Given the description of an element on the screen output the (x, y) to click on. 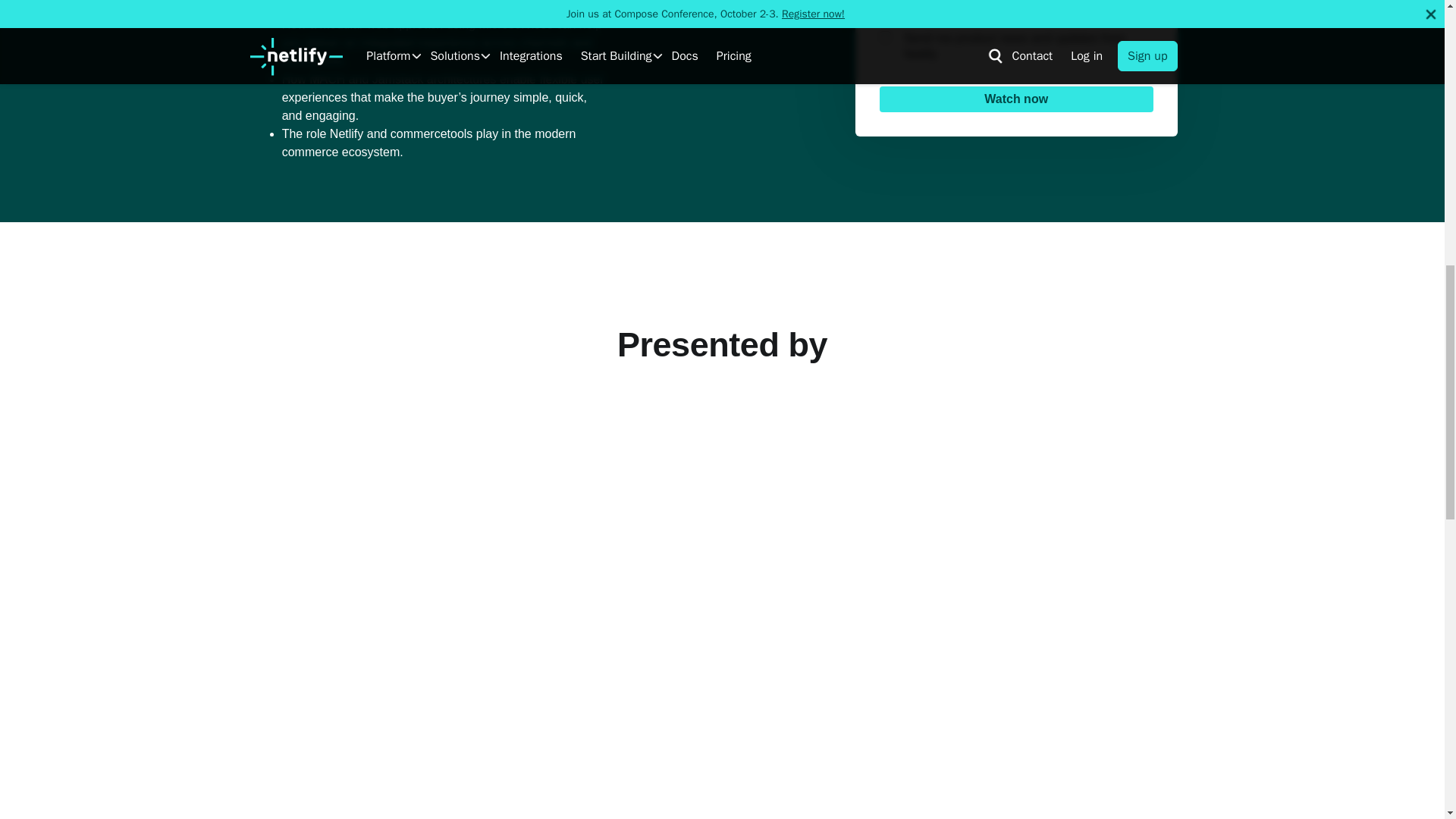
on (885, 36)
